Given the description of an element on the screen output the (x, y) to click on. 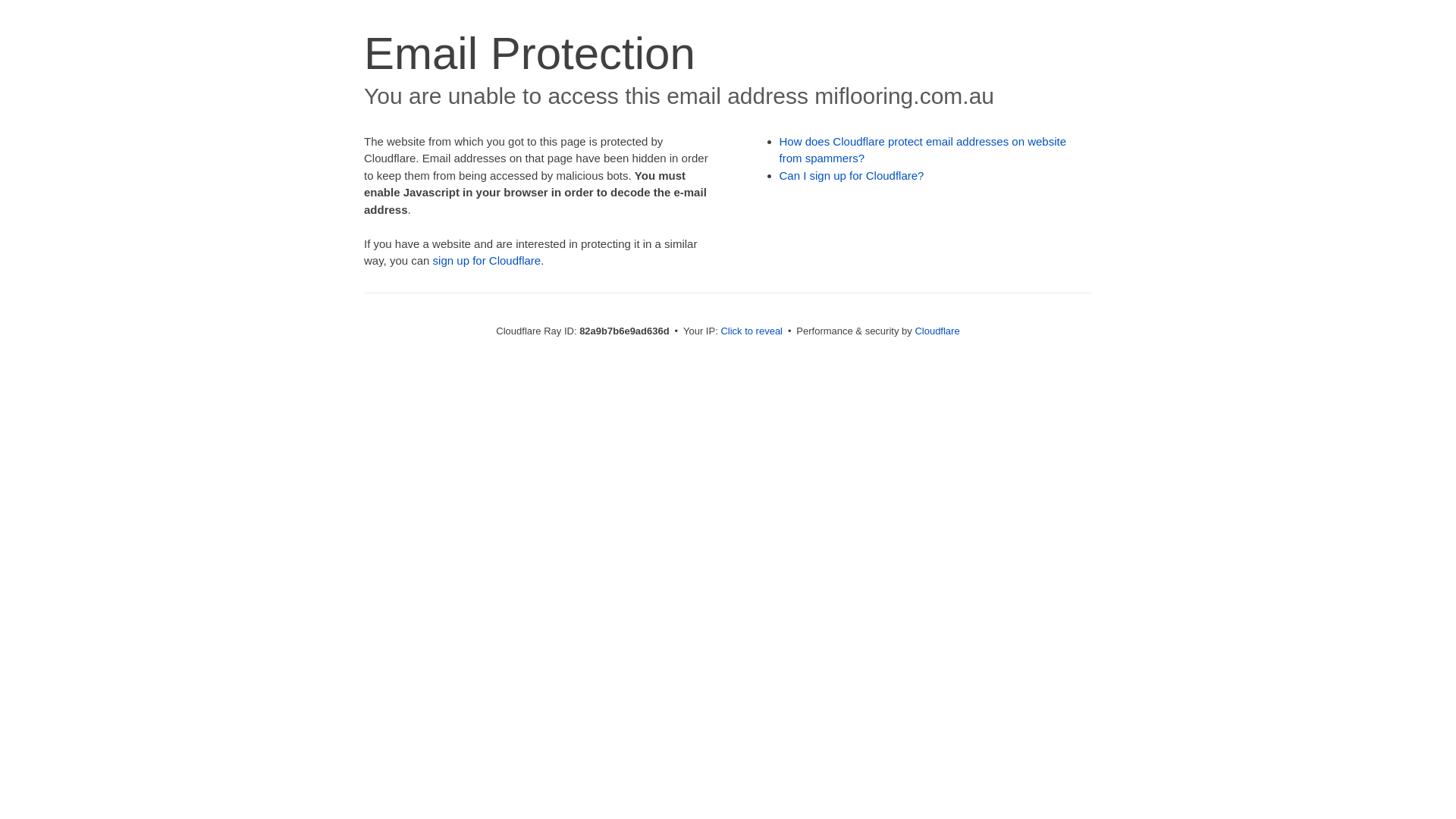
sign up for Cloudflare Element type: text (487, 260)
Cloudflare Element type: text (936, 330)
Can I sign up for Cloudflare? Element type: text (851, 175)
Click to reveal Element type: text (751, 330)
